Given the description of an element on the screen output the (x, y) to click on. 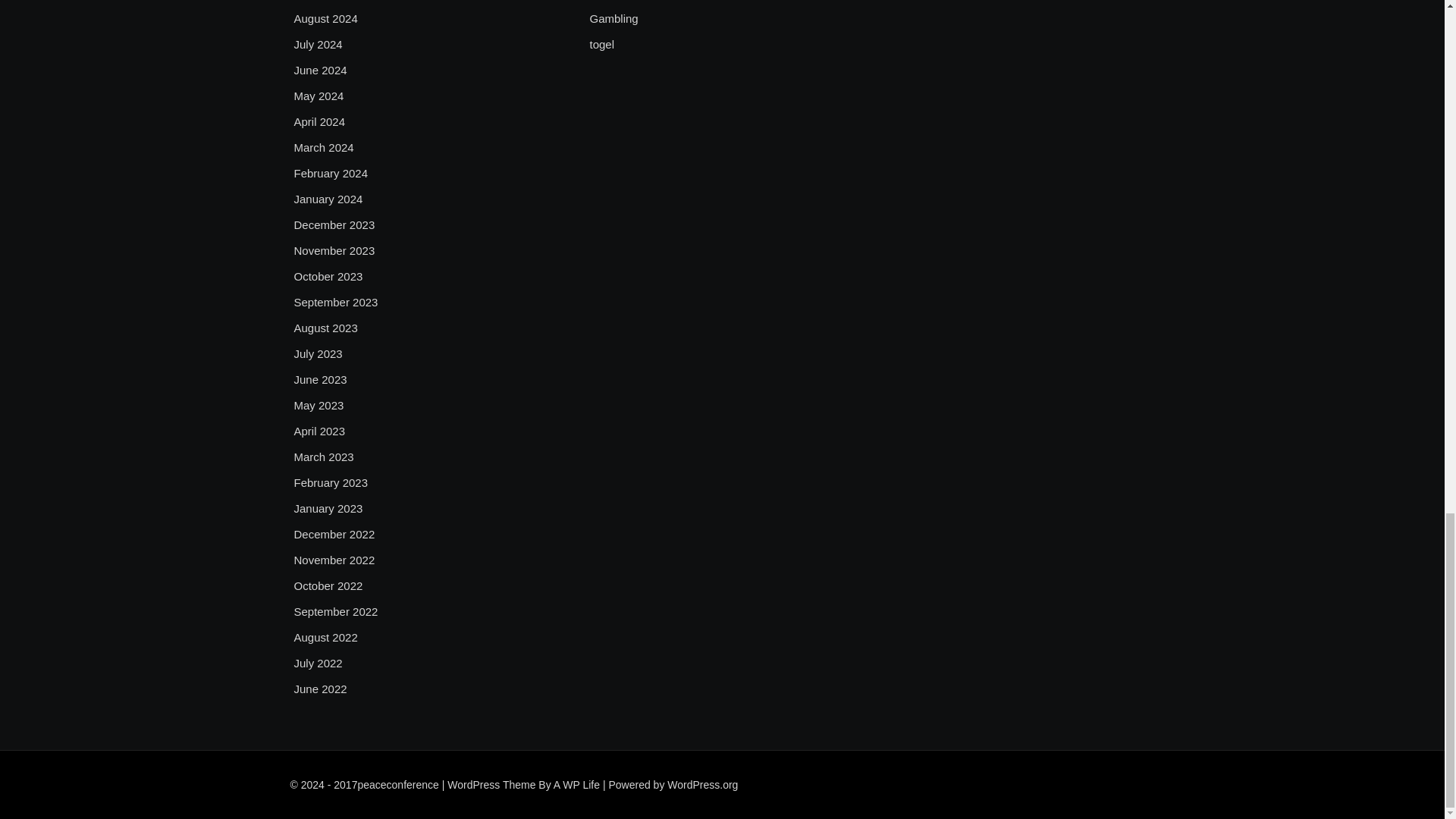
May 2024 (318, 95)
October 2023 (328, 276)
January 2024 (328, 199)
March 2024 (323, 147)
December 2022 (334, 534)
April 2024 (320, 122)
June 2024 (320, 70)
November 2022 (334, 560)
July 2023 (318, 353)
June 2023 (320, 380)
December 2023 (334, 225)
April 2023 (320, 431)
November 2023 (334, 250)
August 2024 (326, 18)
February 2024 (331, 173)
